Given the description of an element on the screen output the (x, y) to click on. 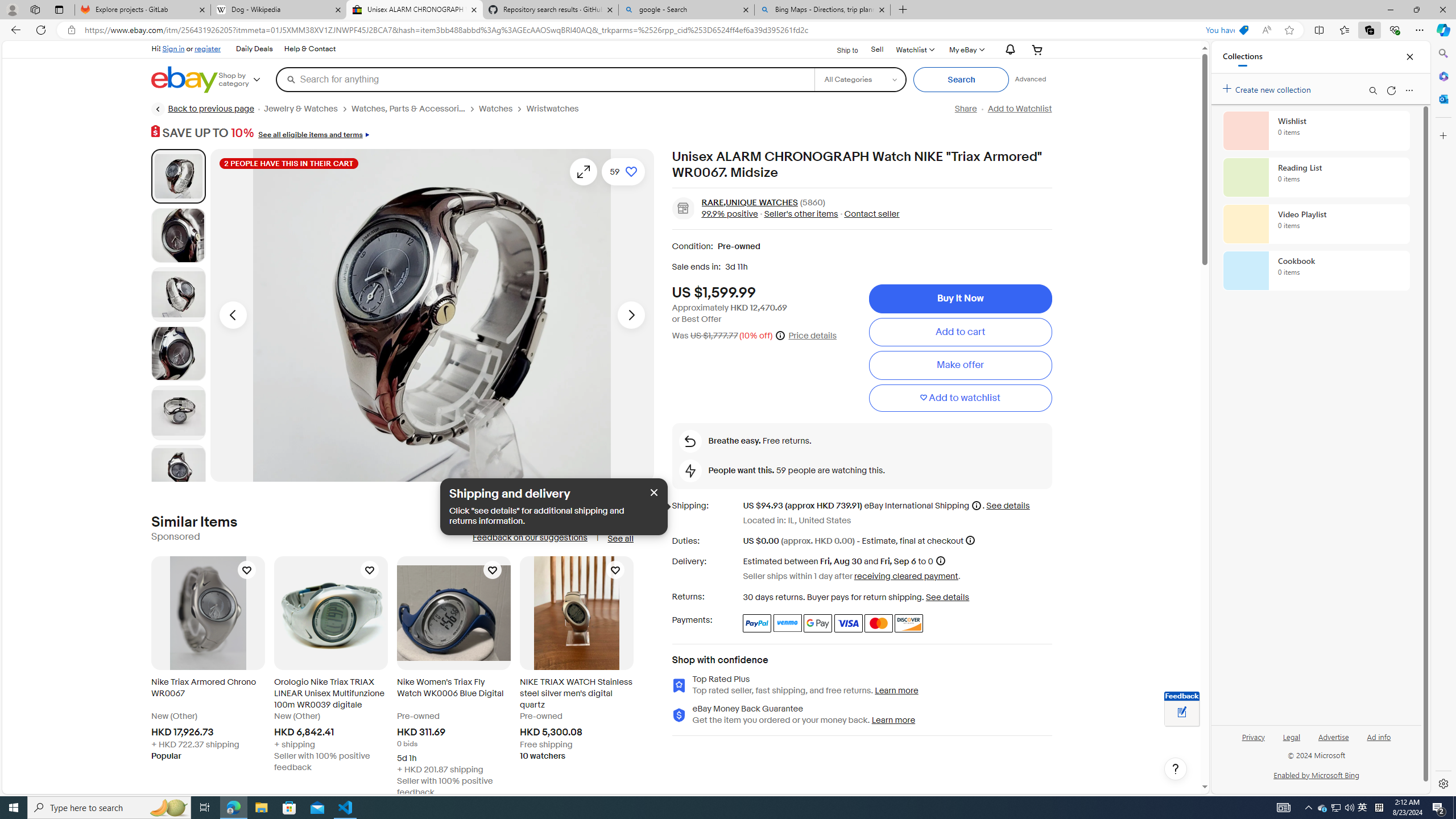
Dog - Wikipedia (277, 9)
RARE,UNIQUE WATCHES (749, 202)
Create new collection (1268, 87)
Watchlist (914, 49)
Close dialog (653, 492)
Jewelry & Watches (306, 108)
Buy It Now (959, 298)
  Seller's other items (797, 213)
Picture 5 of 18 (178, 412)
Previous image - Item images thumbnails (232, 315)
